Given the description of an element on the screen output the (x, y) to click on. 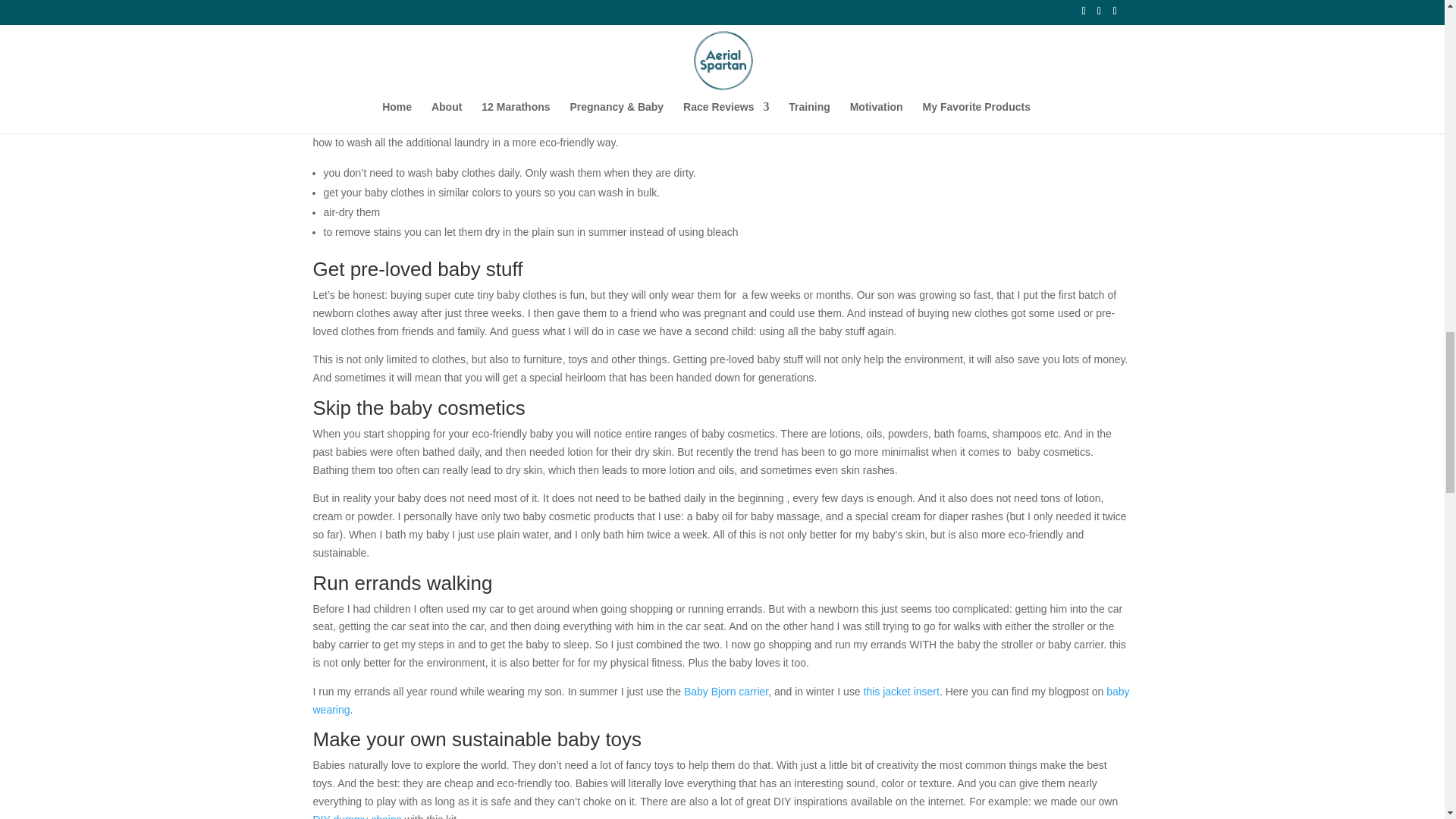
Baby Bjorn carrier (726, 691)
sturdy, durable changing mat (565, 32)
DIY dummy chains (357, 816)
this jacket insert (901, 691)
baby wearing (721, 700)
